Given the description of an element on the screen output the (x, y) to click on. 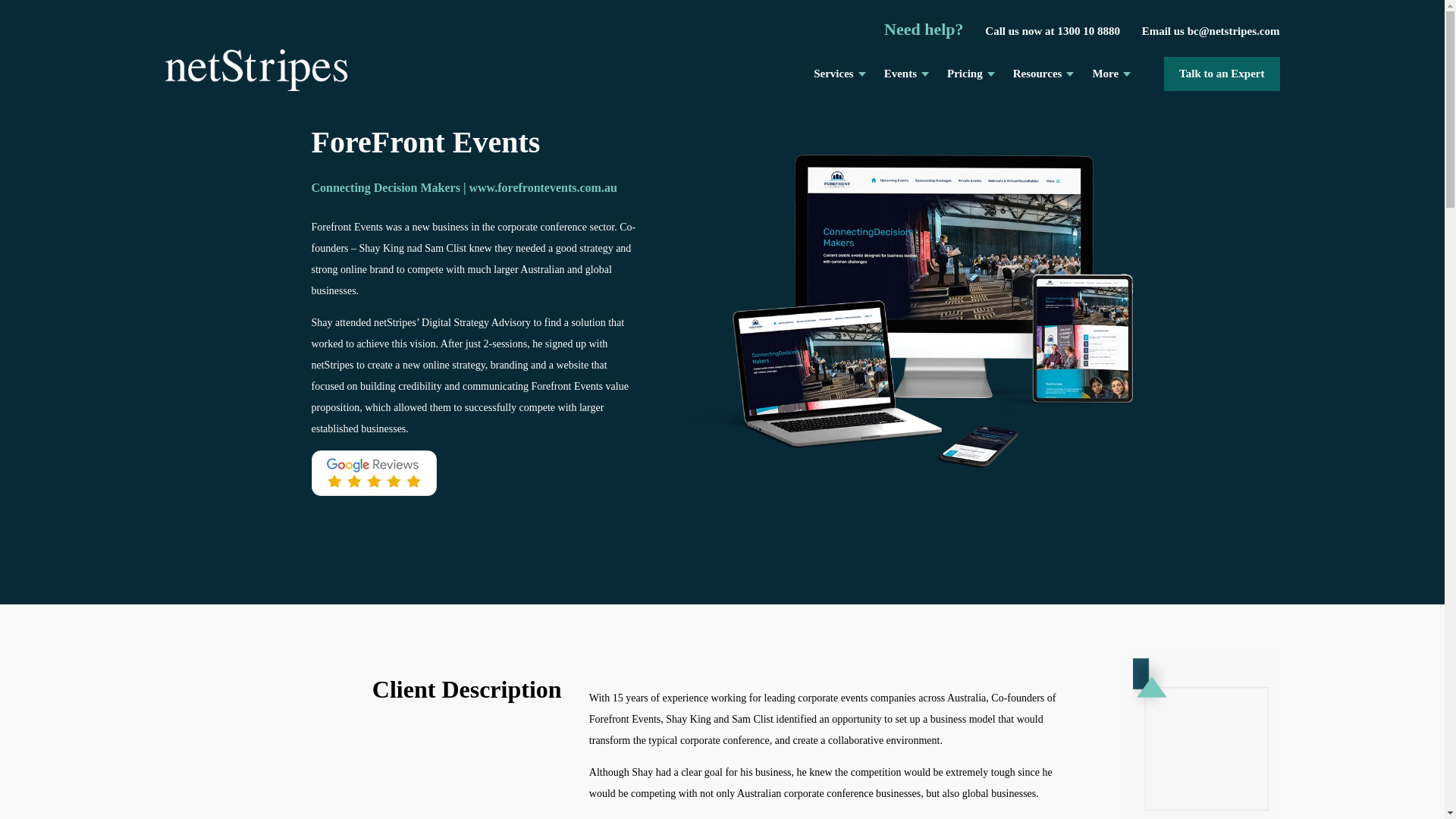
More (1105, 73)
Resources (1037, 73)
Pricing (964, 73)
Services (832, 73)
1300 10 8880 (1097, 30)
Events (900, 73)
